Given the description of an element on the screen output the (x, y) to click on. 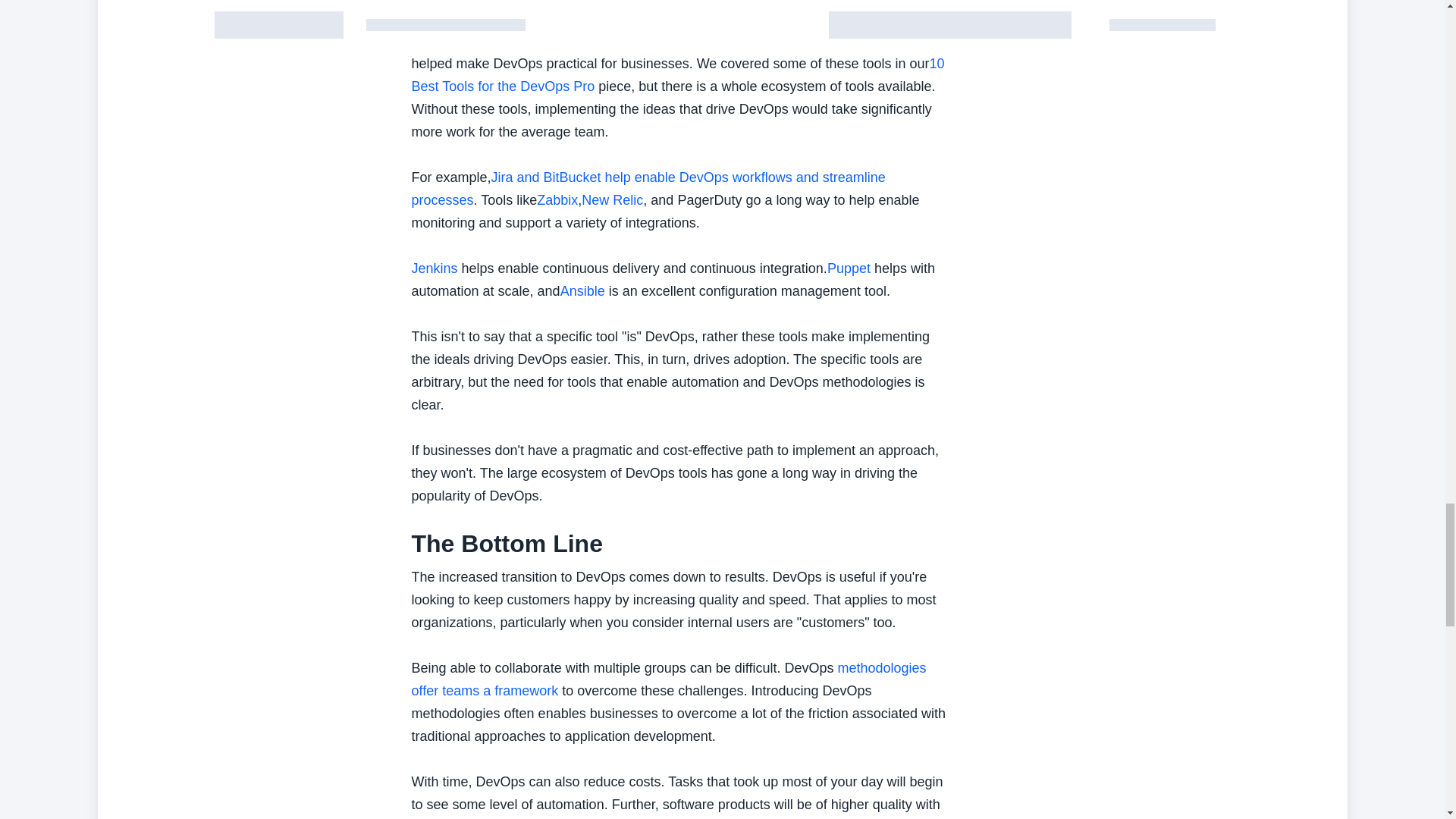
Zabbix (557, 200)
Ansible (582, 290)
Jenkins (433, 268)
New Relic (611, 200)
methodologies offer teams a framework (668, 679)
10 Best Tools for the DevOps Pro (676, 75)
Puppet (848, 268)
